Given the description of an element on the screen output the (x, y) to click on. 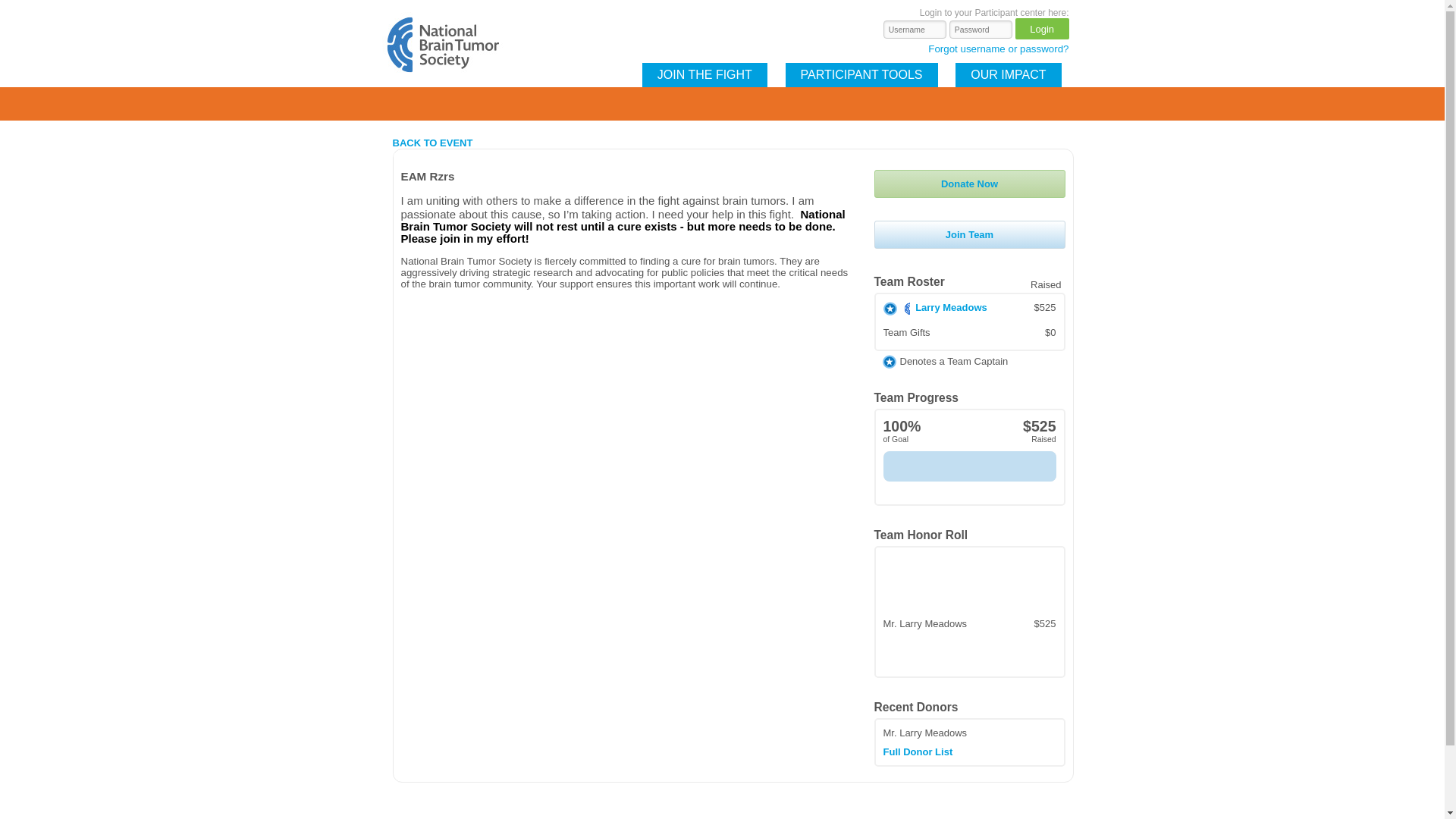
OUR IMPACT (1008, 74)
Forgot username or password? (998, 52)
Donate Now (968, 183)
Join Team (968, 234)
PARTICIPANT TOOLS (861, 74)
BACK TO EVENT (433, 142)
Larry Meadows (951, 307)
Login (1041, 28)
Full Donor List (917, 751)
JOIN THE FIGHT (704, 74)
Personal Gift (906, 308)
